Given the description of an element on the screen output the (x, y) to click on. 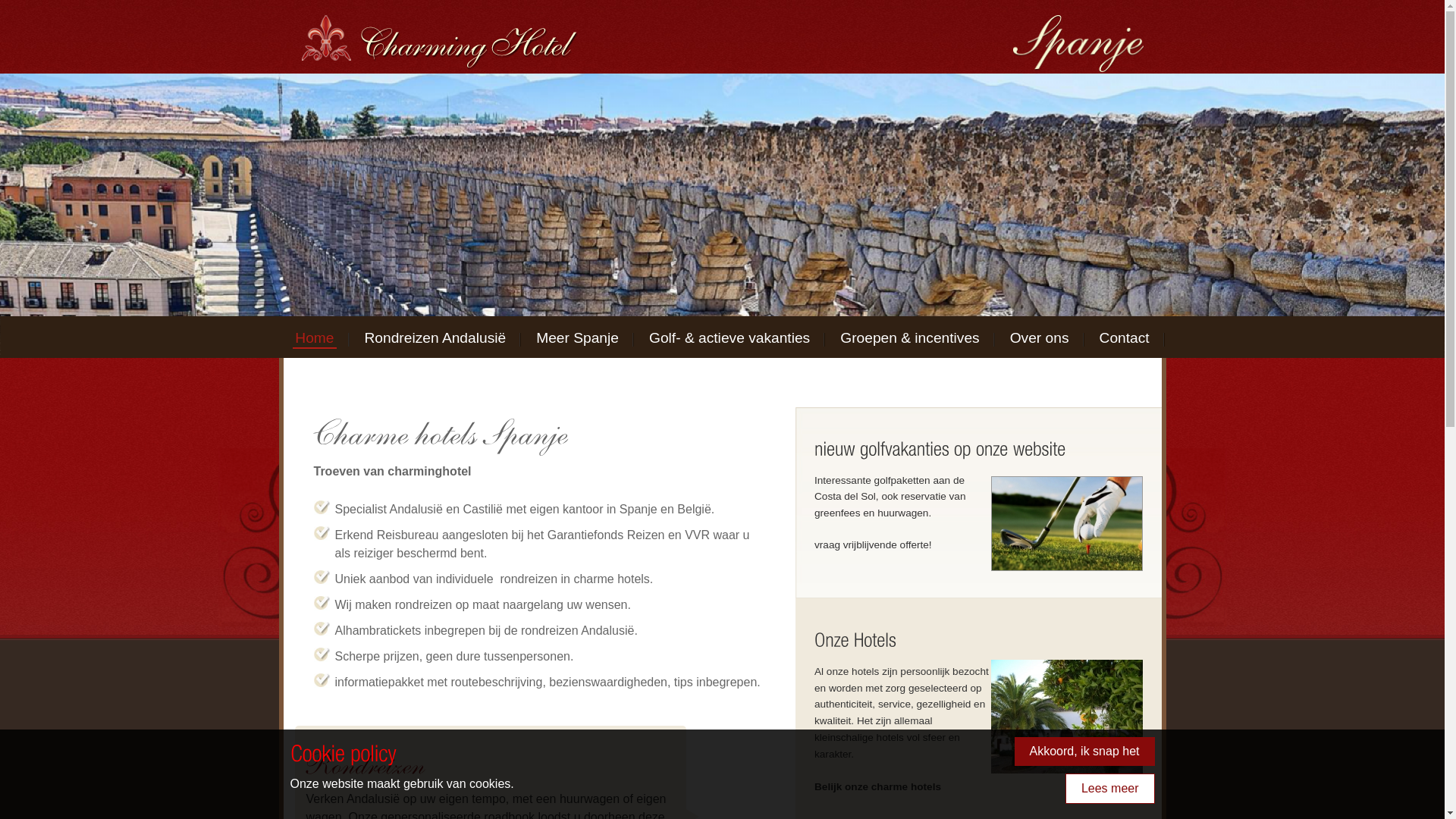
Over ons Element type: text (1039, 338)
Fly en drives Element type: hover (365, 764)
Contact Element type: text (1124, 338)
Golf- & actieve vakanties Element type: text (729, 338)
Groepen & incentives Element type: text (909, 338)
Home Element type: text (314, 338)
Meer Spanje Element type: text (577, 338)
Lees meer Element type: text (1109, 788)
golfholidays Element type: hover (1062, 523)
Akkoord, ik snap het Element type: text (1084, 751)
